Given the description of an element on the screen output the (x, y) to click on. 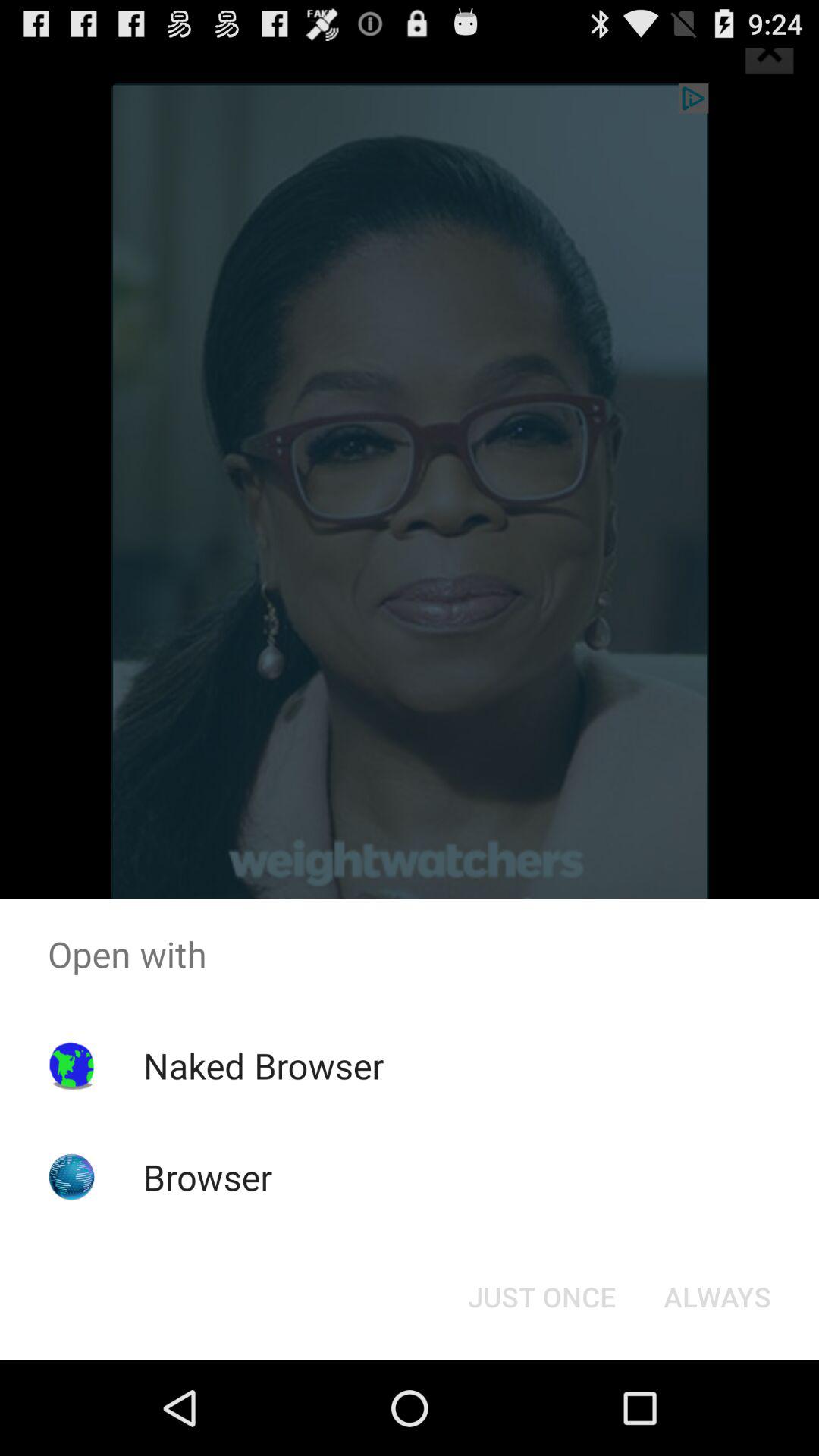
turn off the button to the left of always icon (541, 1296)
